Given the description of an element on the screen output the (x, y) to click on. 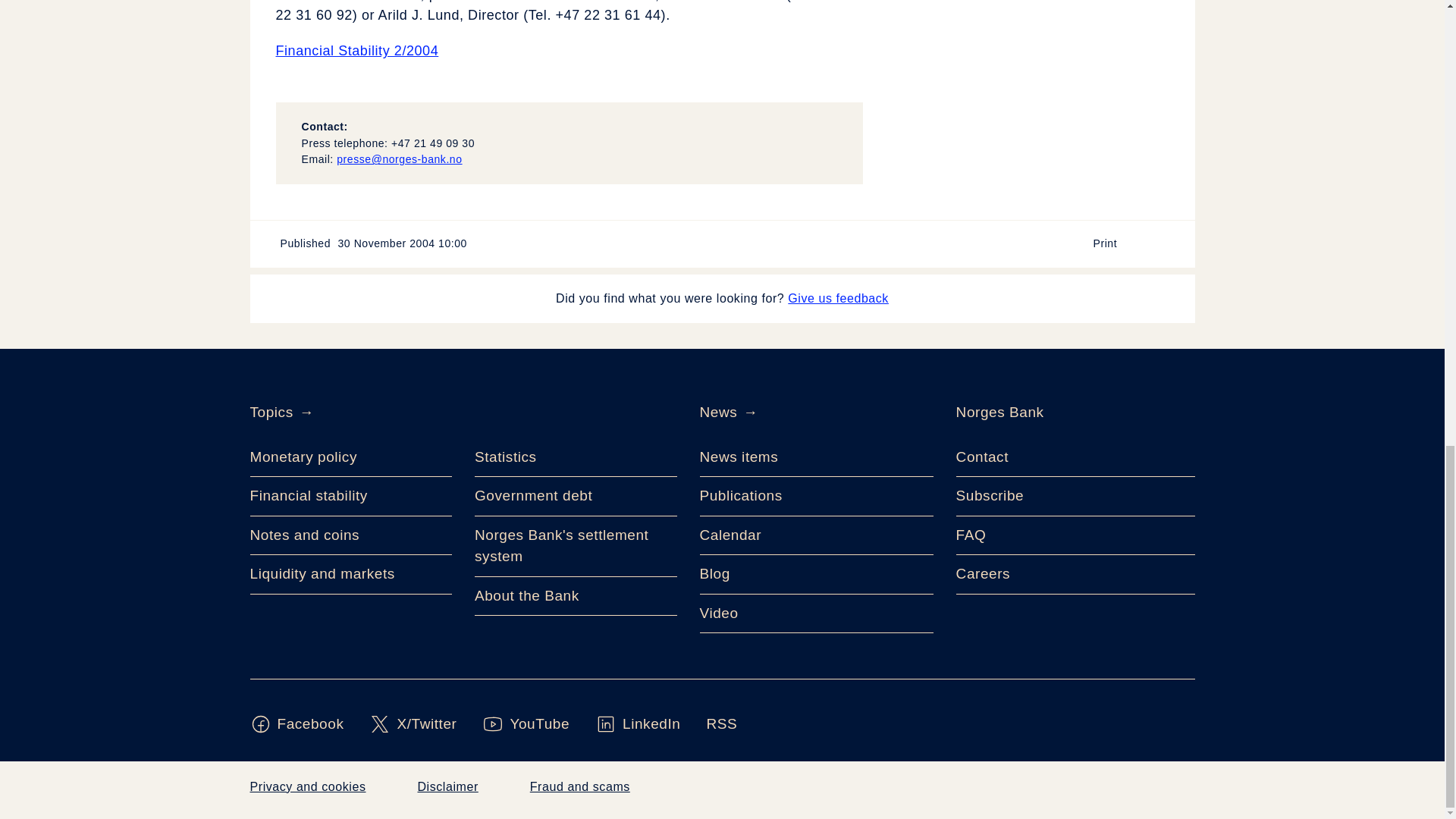
FAQ (1075, 536)
Statistics (575, 457)
Norges Bank's settlement system (575, 546)
Government debt (575, 496)
Financial stability (351, 496)
Print (1112, 243)
Calendar (815, 536)
Monetary policy (351, 457)
News items (815, 457)
Publications (815, 496)
Video (815, 613)
About the Bank (575, 596)
Subscribe (1075, 496)
Give us feedback (837, 298)
Topics (272, 412)
